Given the description of an element on the screen output the (x, y) to click on. 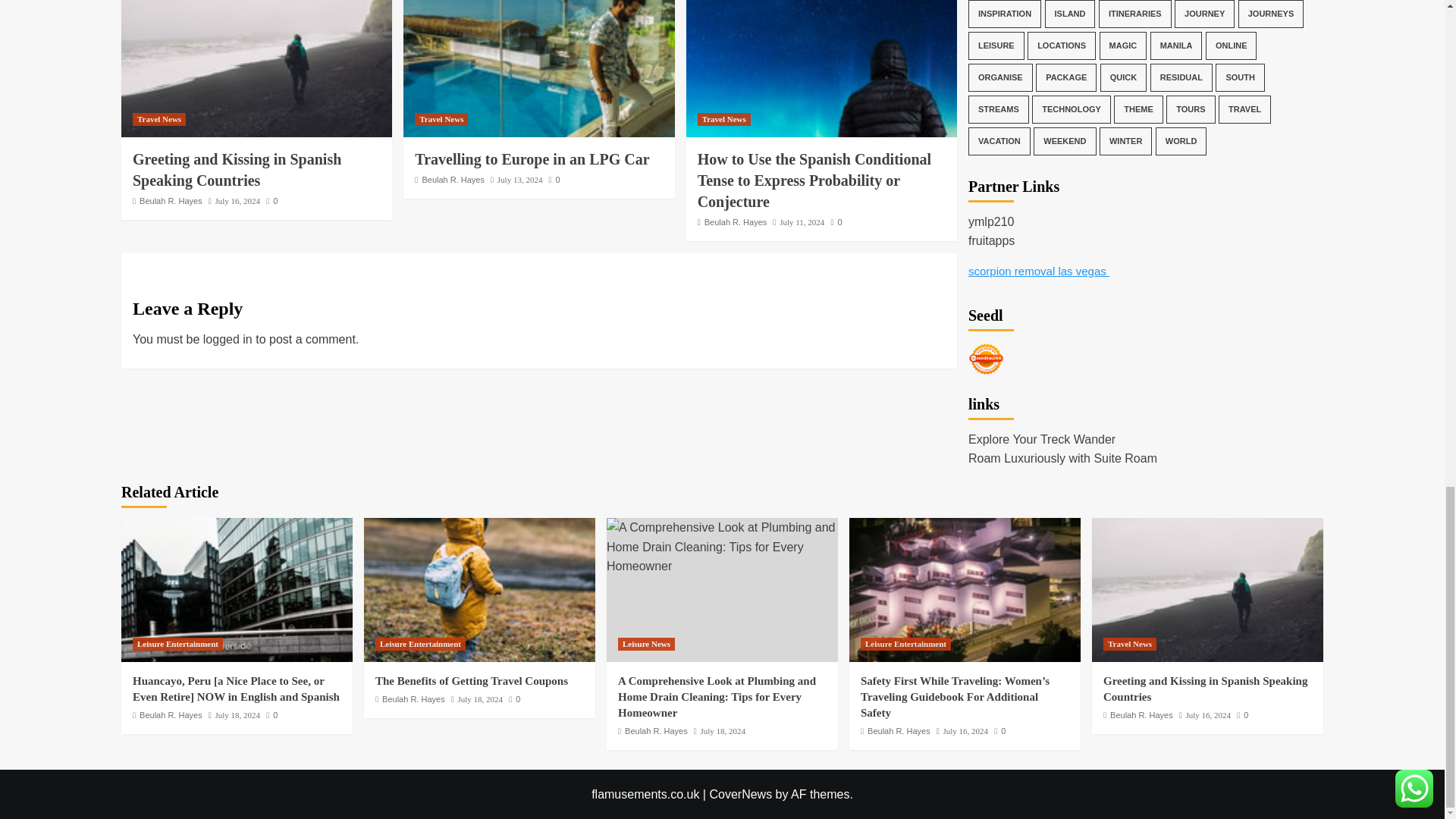
The Benefits of Getting Travel Coupons (479, 589)
Beulah R. Hayes (170, 200)
Travel News (159, 119)
0 (272, 200)
Greeting and Kissing in Spanish Speaking Countries (236, 169)
July 16, 2024 (237, 200)
Travelling to Europe in an LPG Car (538, 68)
Seedbacklink (986, 358)
Greeting and Kissing in Spanish Speaking Countries (255, 68)
